Given the description of an element on the screen output the (x, y) to click on. 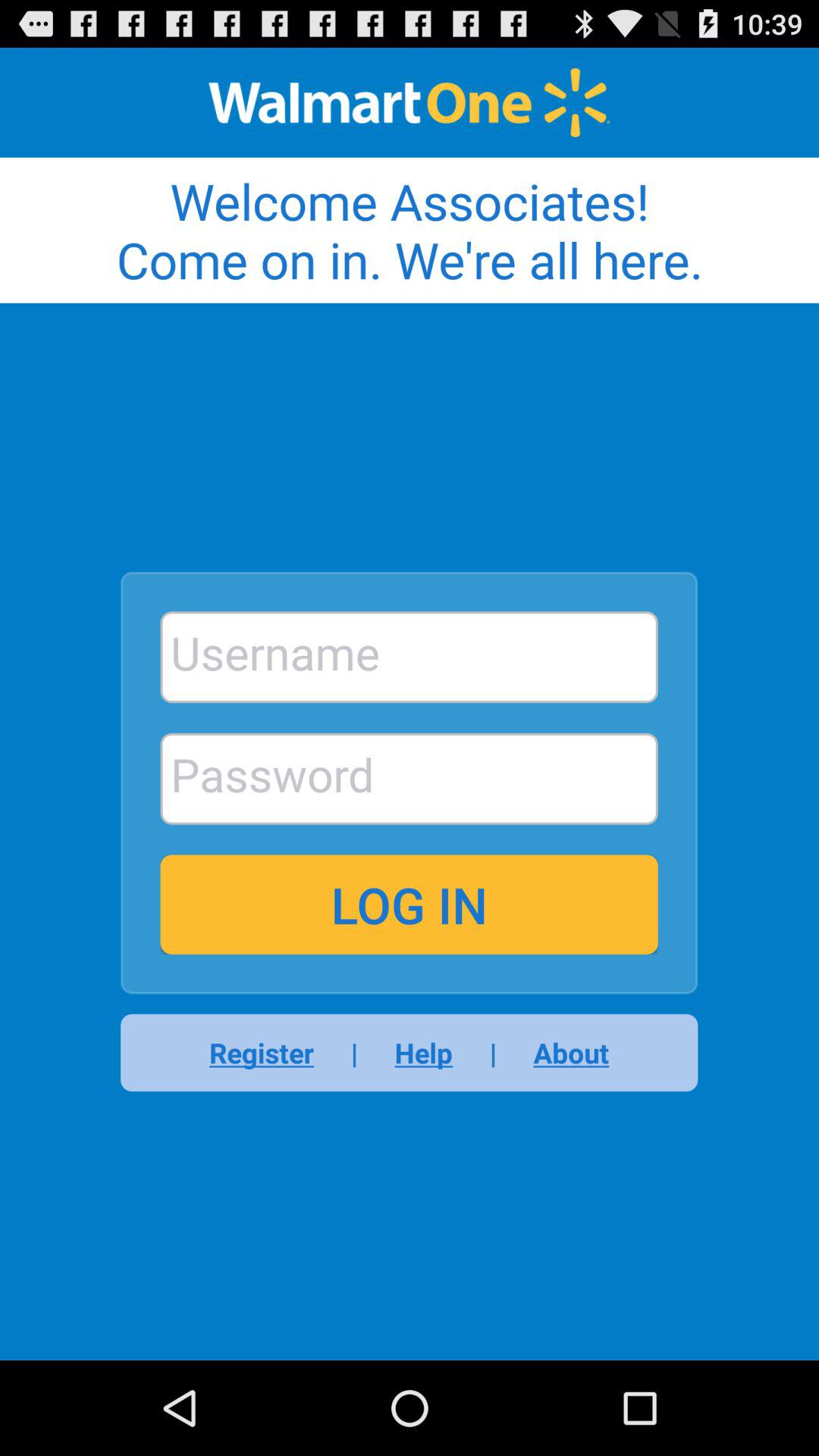
swipe to the  about  icon (560, 1052)
